Given the description of an element on the screen output the (x, y) to click on. 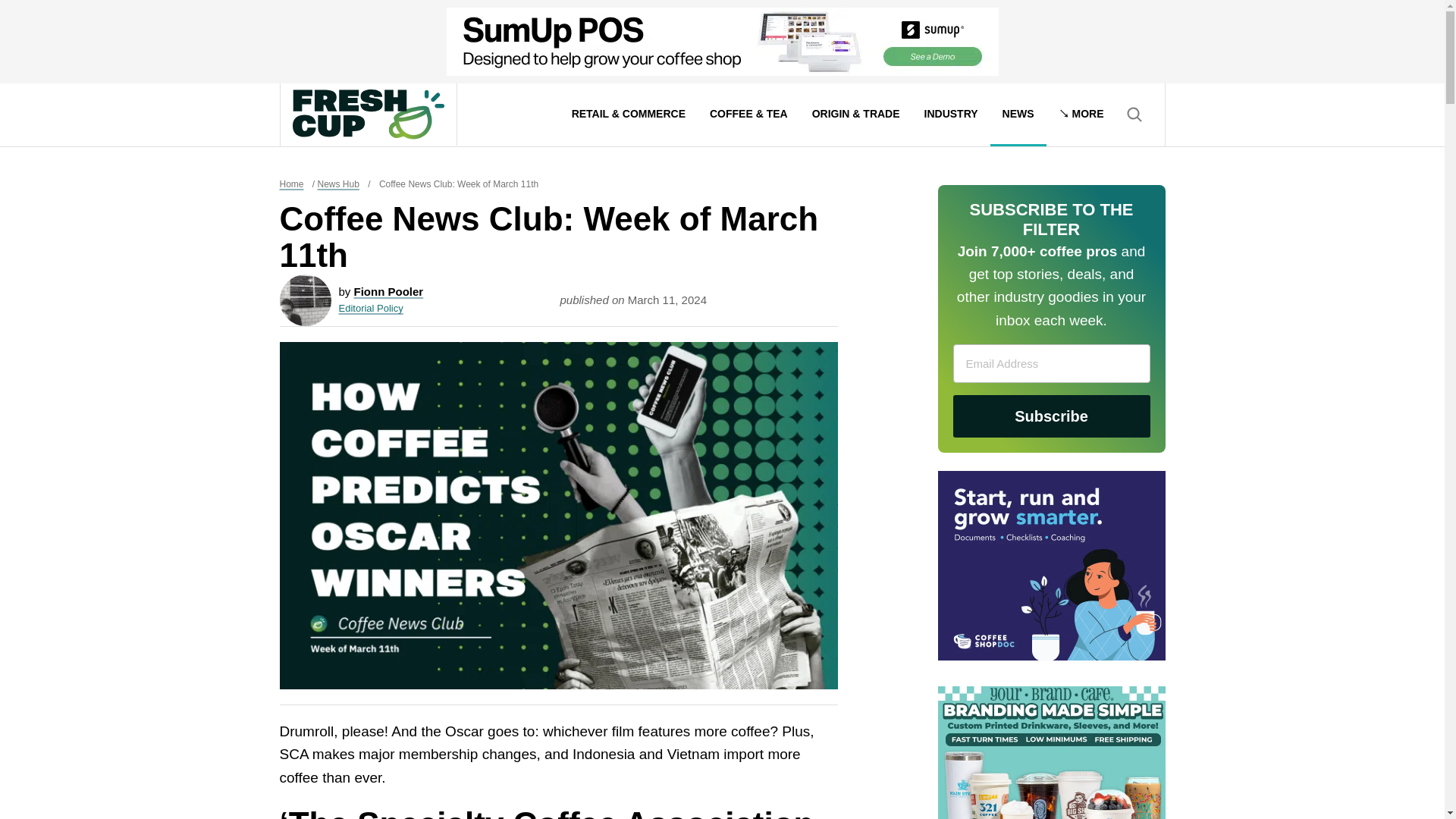
Subscribe (1051, 415)
INDUSTRY (951, 114)
NEWS (1018, 114)
Fresh Cup Magazine (368, 114)
